Given the description of an element on the screen output the (x, y) to click on. 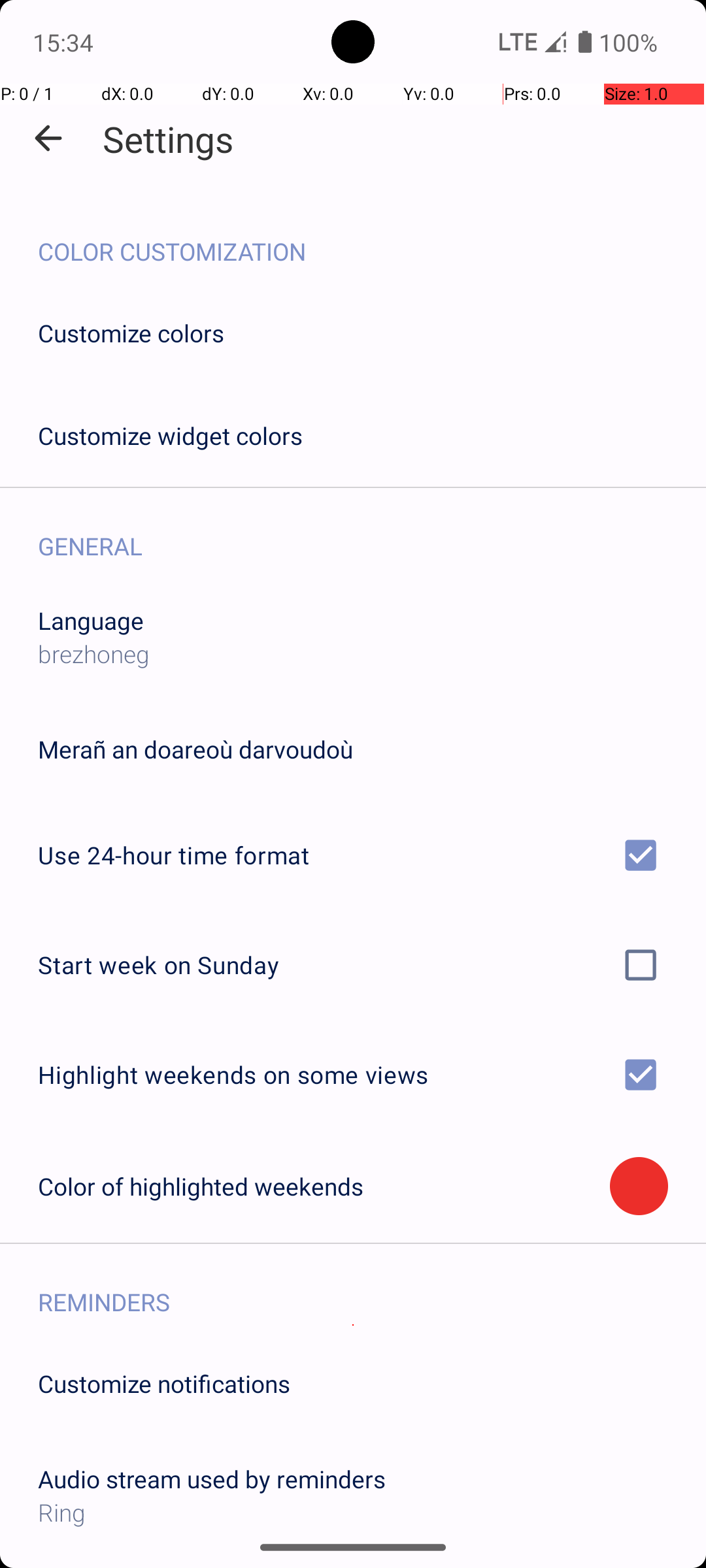
brezhoneg Element type: android.widget.TextView (93, 653)
Merañ an doareoù darvoudoù Element type: android.widget.TextView (195, 748)
Color of highlighted weekends Element type: android.widget.TextView (323, 1186)
Ring Element type: android.widget.TextView (352, 1511)
